Given the description of an element on the screen output the (x, y) to click on. 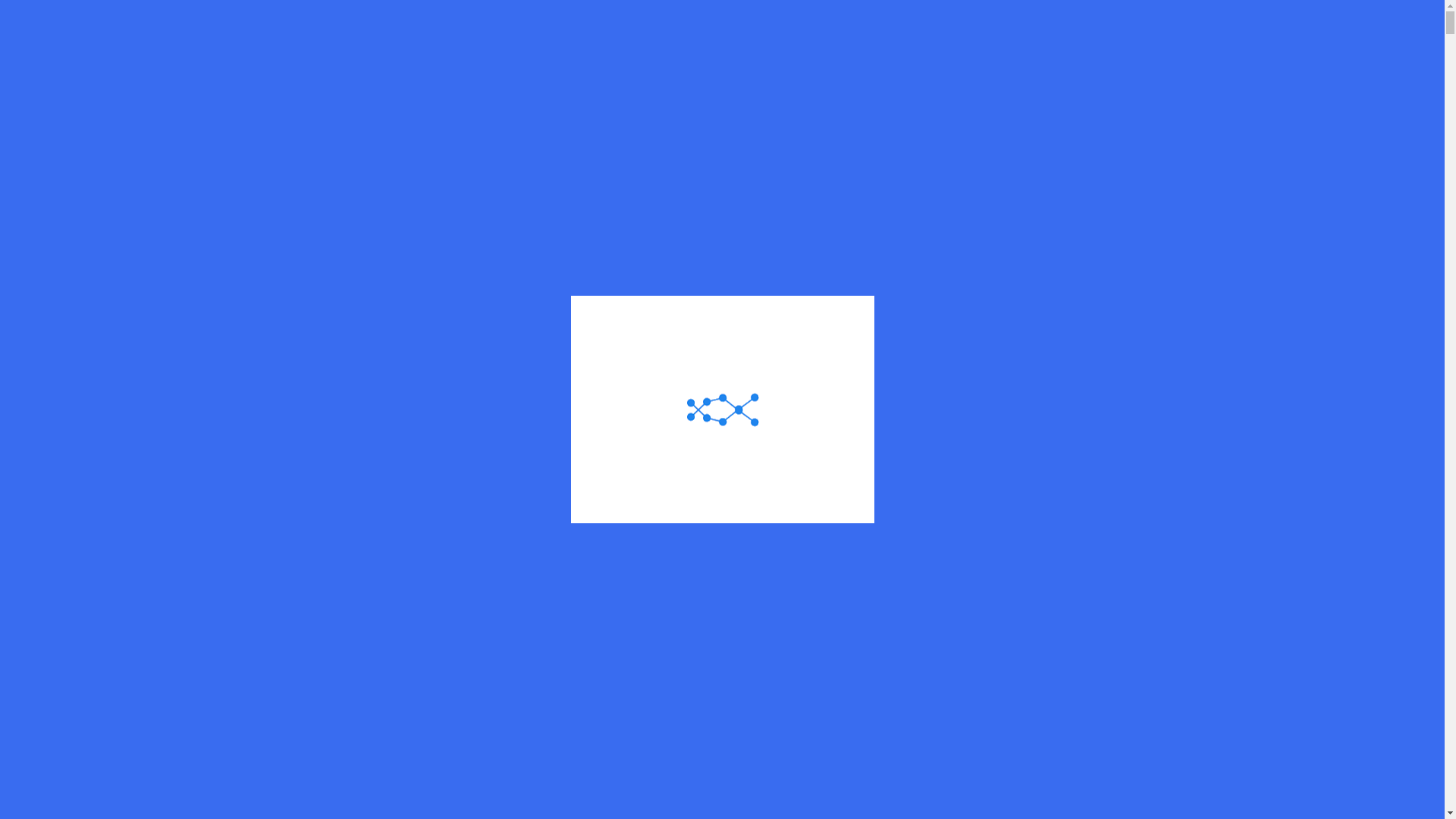
IMLI (374, 502)
Turnos (1182, 75)
Quienes Somos (718, 76)
Go to Medinth S.A.. (271, 288)
Medinth S.A. (271, 288)
0,015343589 (1034, 810)
Infraestructura (893, 76)
Servicios (808, 76)
Turnos (1182, 75)
